Given the description of an element on the screen output the (x, y) to click on. 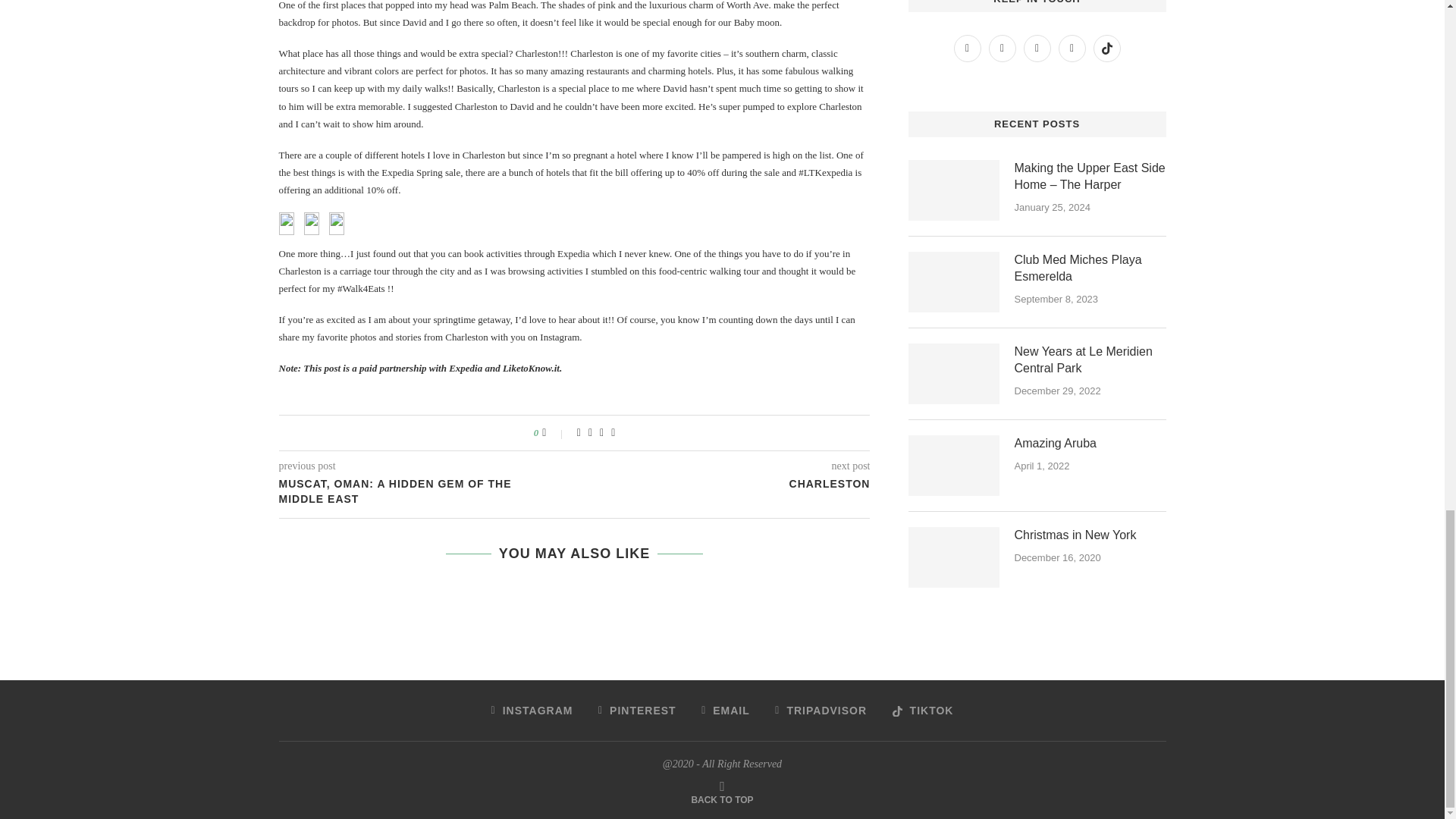
Club Med Miches Playa Esmerelda (953, 281)
Like (553, 432)
Club Med Miches Playa Esmerelda (1090, 268)
New Years at Le Meridien Central Park (953, 373)
New Years at Le Meridien Central Park (1090, 360)
